Given the description of an element on the screen output the (x, y) to click on. 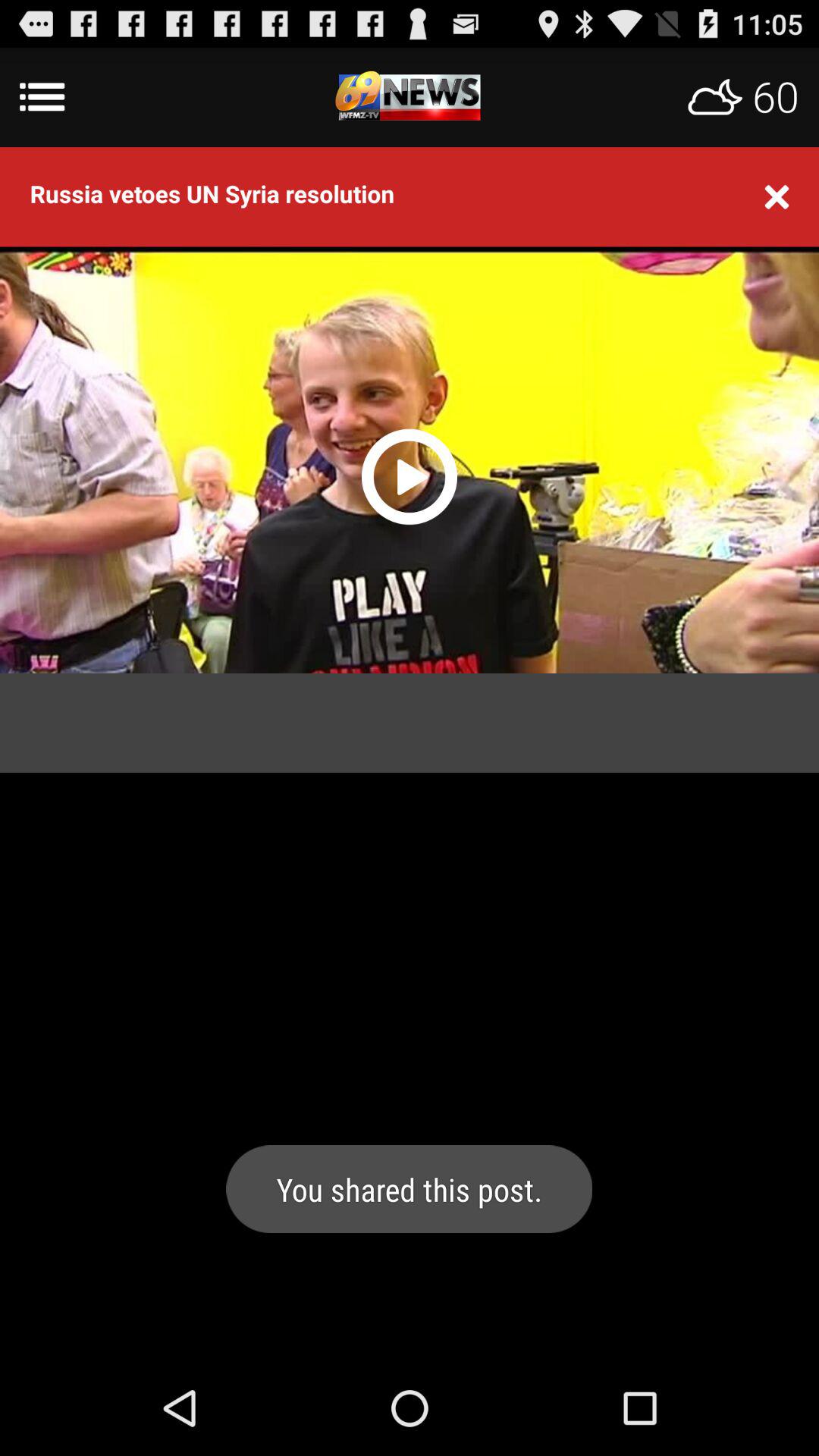
click discription (409, 97)
